Given the description of an element on the screen output the (x, y) to click on. 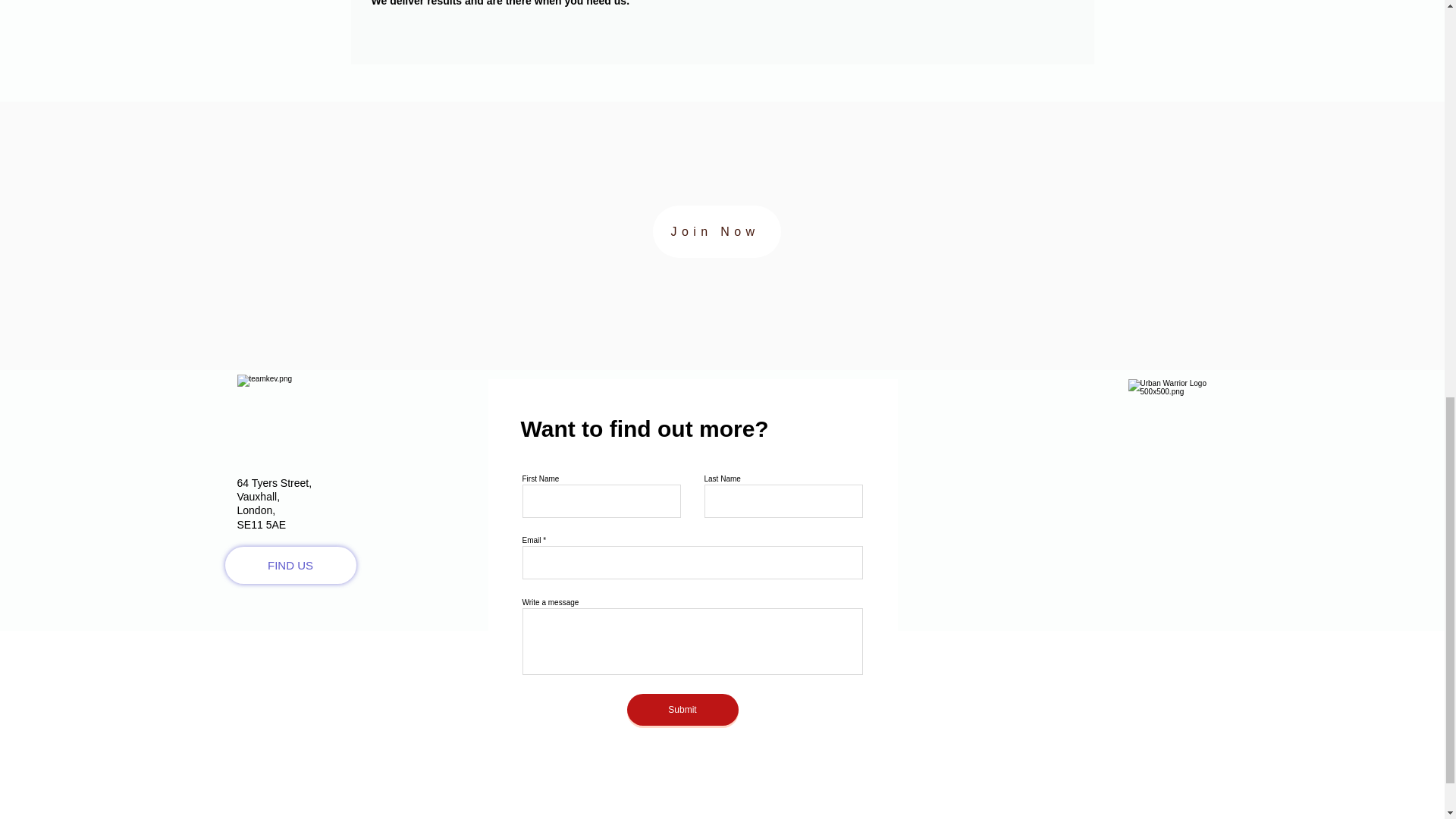
Join Now (716, 231)
Submit (682, 709)
FIND US (289, 565)
